Given the description of an element on the screen output the (x, y) to click on. 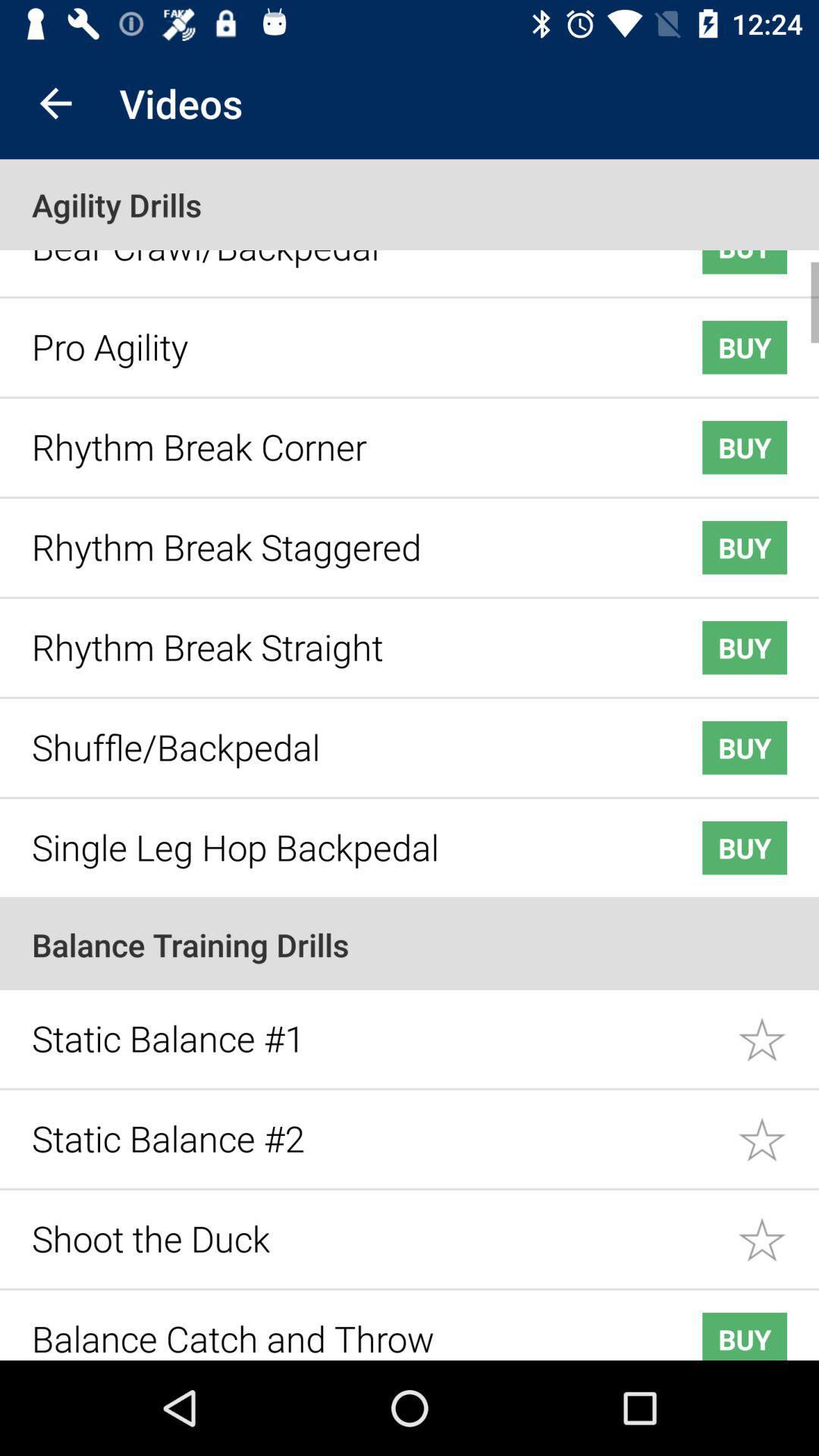
select the icon below the shoot the duck (342, 1327)
